Given the description of an element on the screen output the (x, y) to click on. 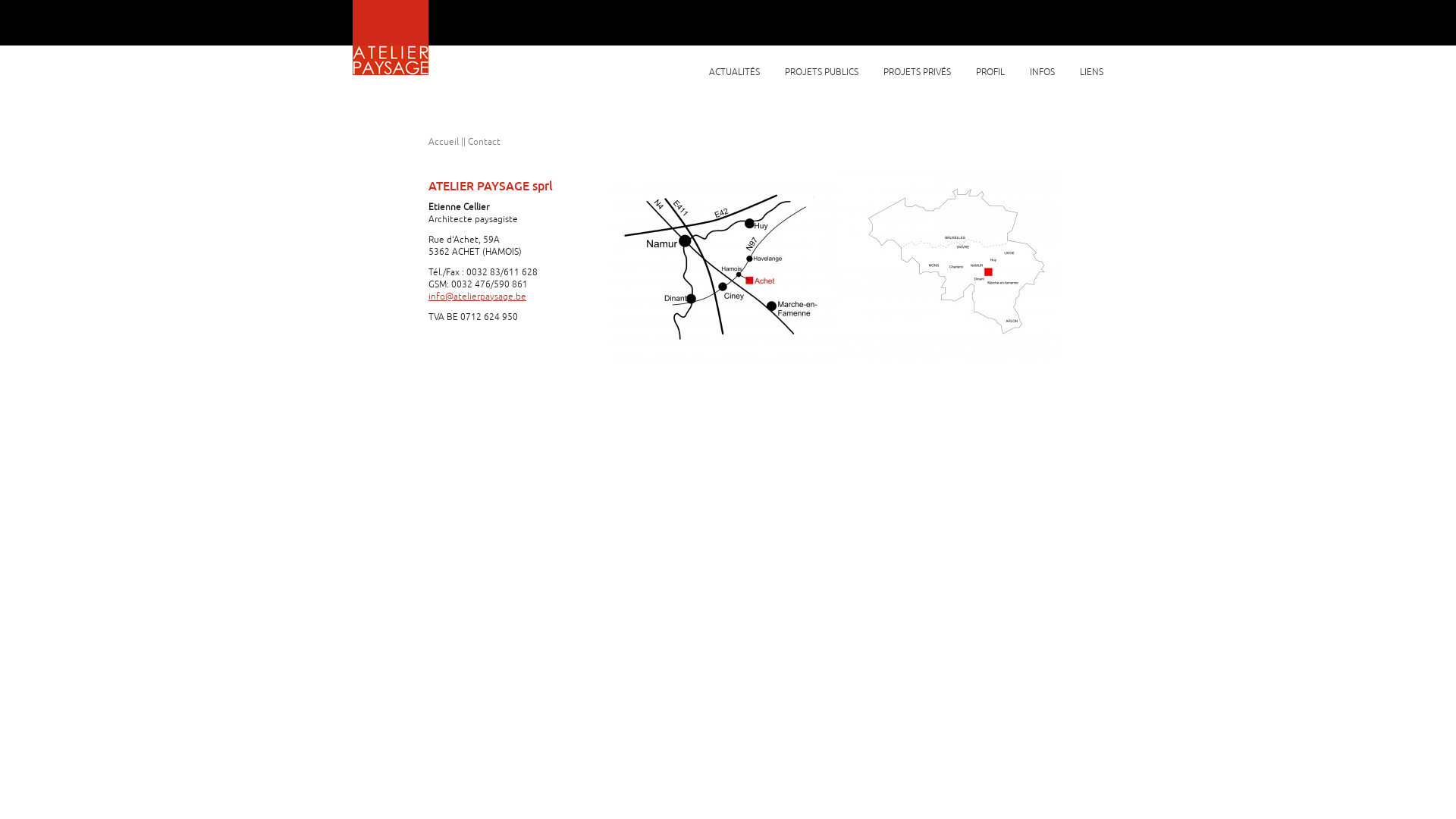
INFOS Element type: text (1042, 71)
PROFIL Element type: text (990, 71)
LIENS Element type: text (1089, 71)
info@atelierpaysage.be Element type: text (477, 296)
PROJETS PUBLICS Element type: text (821, 71)
Accueil Element type: text (443, 141)
Atelier Paysage | Architecture des jardins et du paysage Element type: text (390, 37)
